Given the description of an element on the screen output the (x, y) to click on. 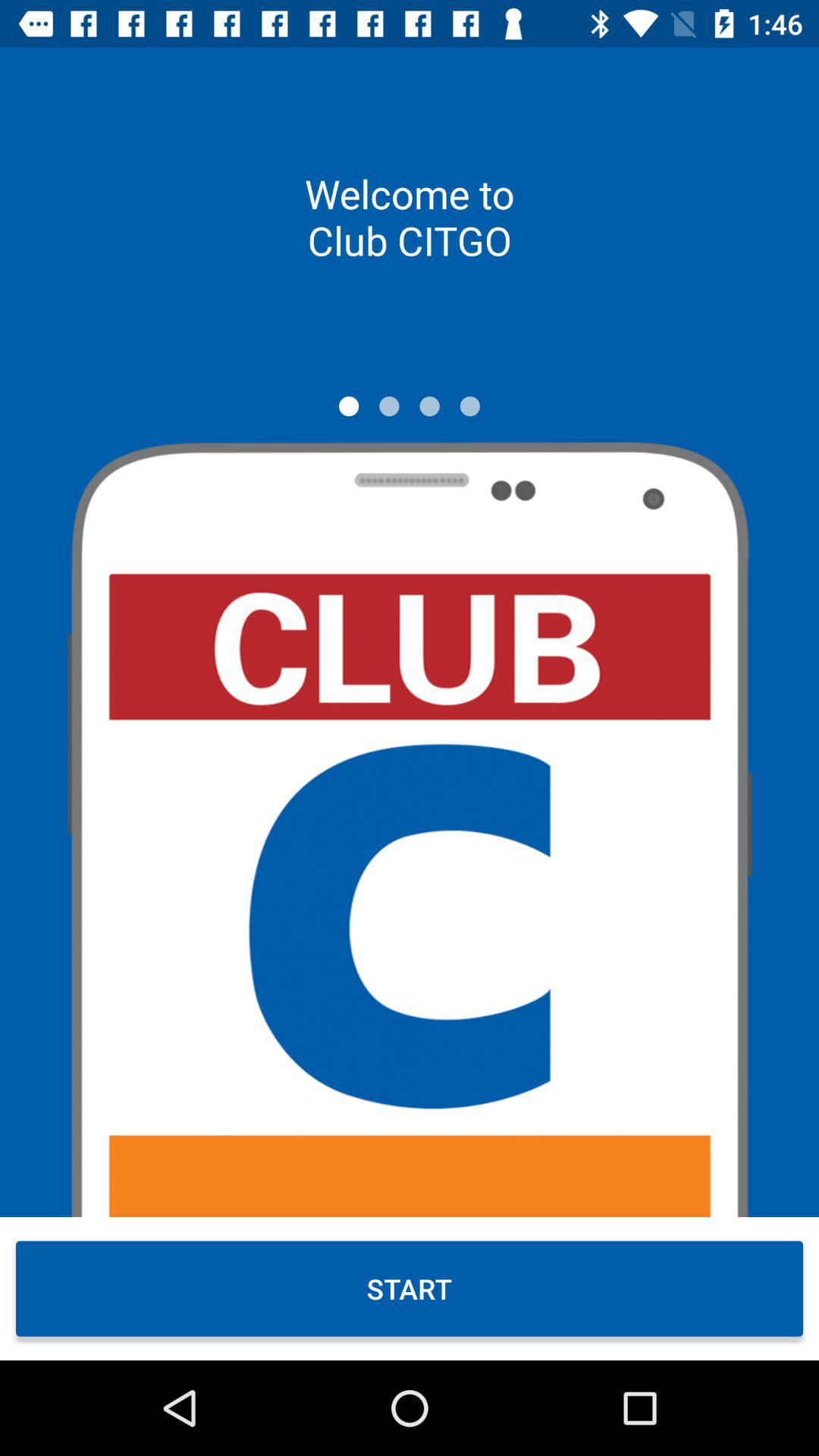
view this slide (348, 406)
